Given the description of an element on the screen output the (x, y) to click on. 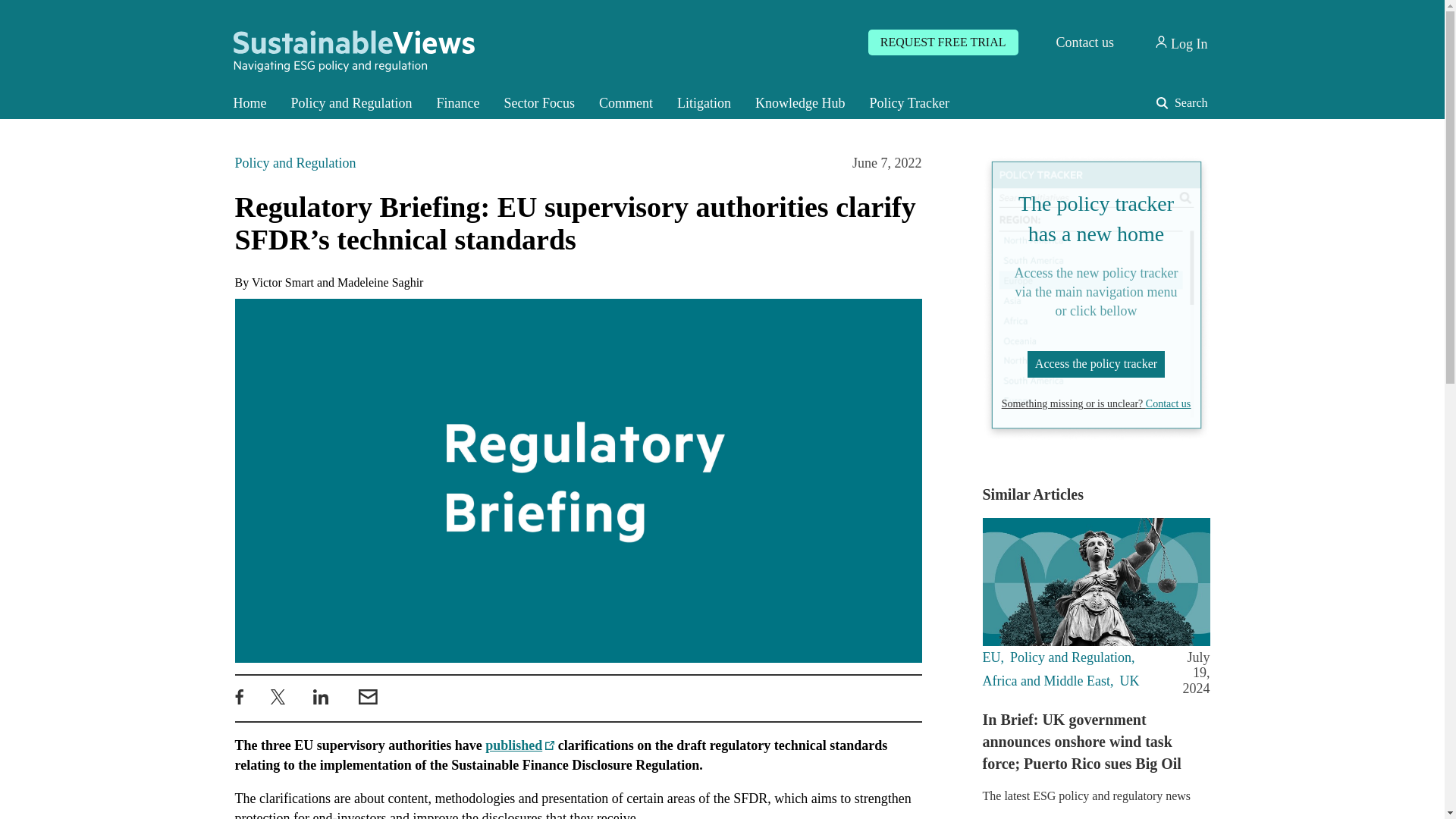
Home (250, 102)
REQUEST FREE TRIAL (942, 42)
Contact us (1084, 42)
Log In (1179, 42)
Policy and Regulation (352, 102)
